Given the description of an element on the screen output the (x, y) to click on. 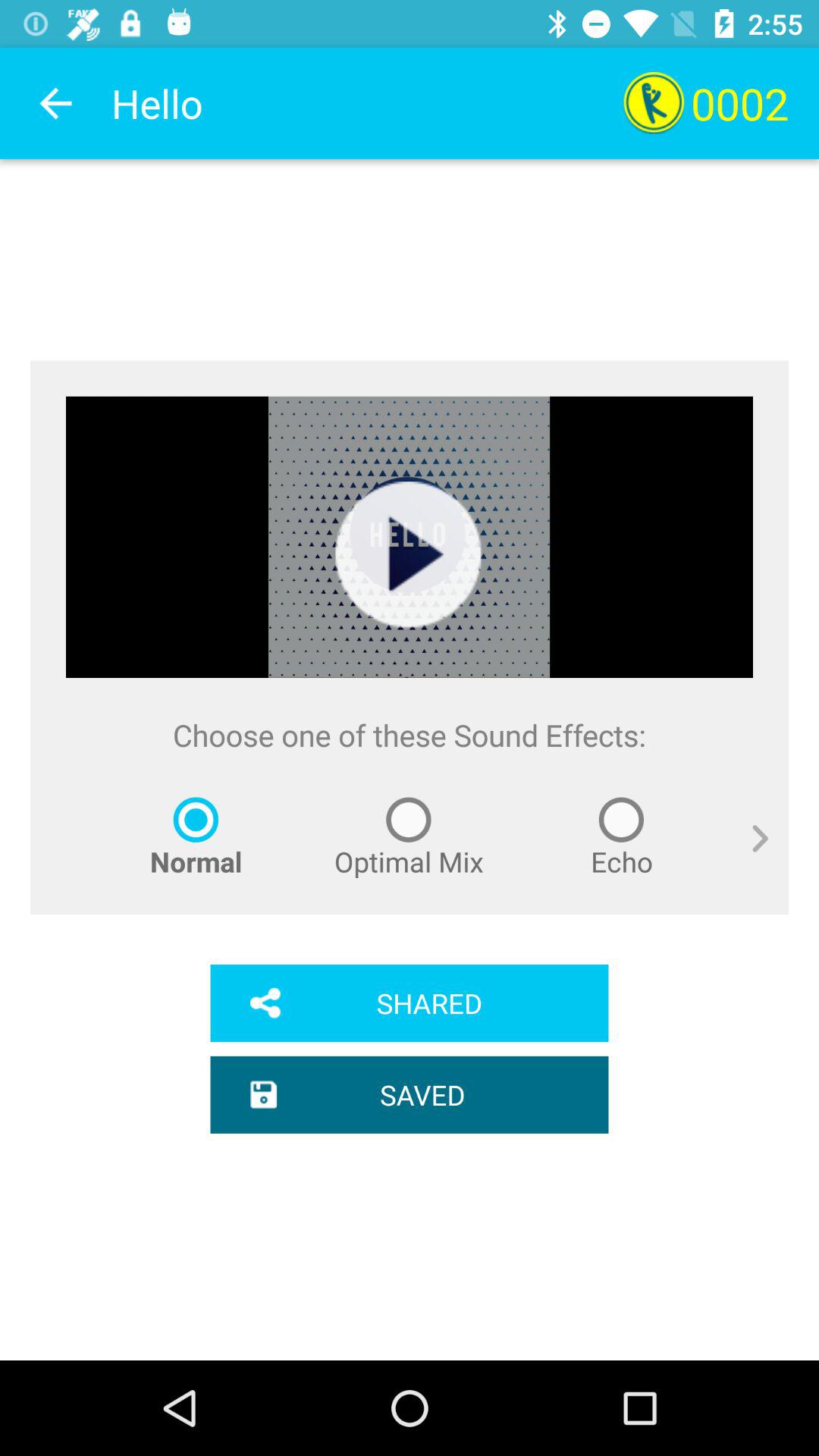
tap shared icon (409, 1002)
